Given the description of an element on the screen output the (x, y) to click on. 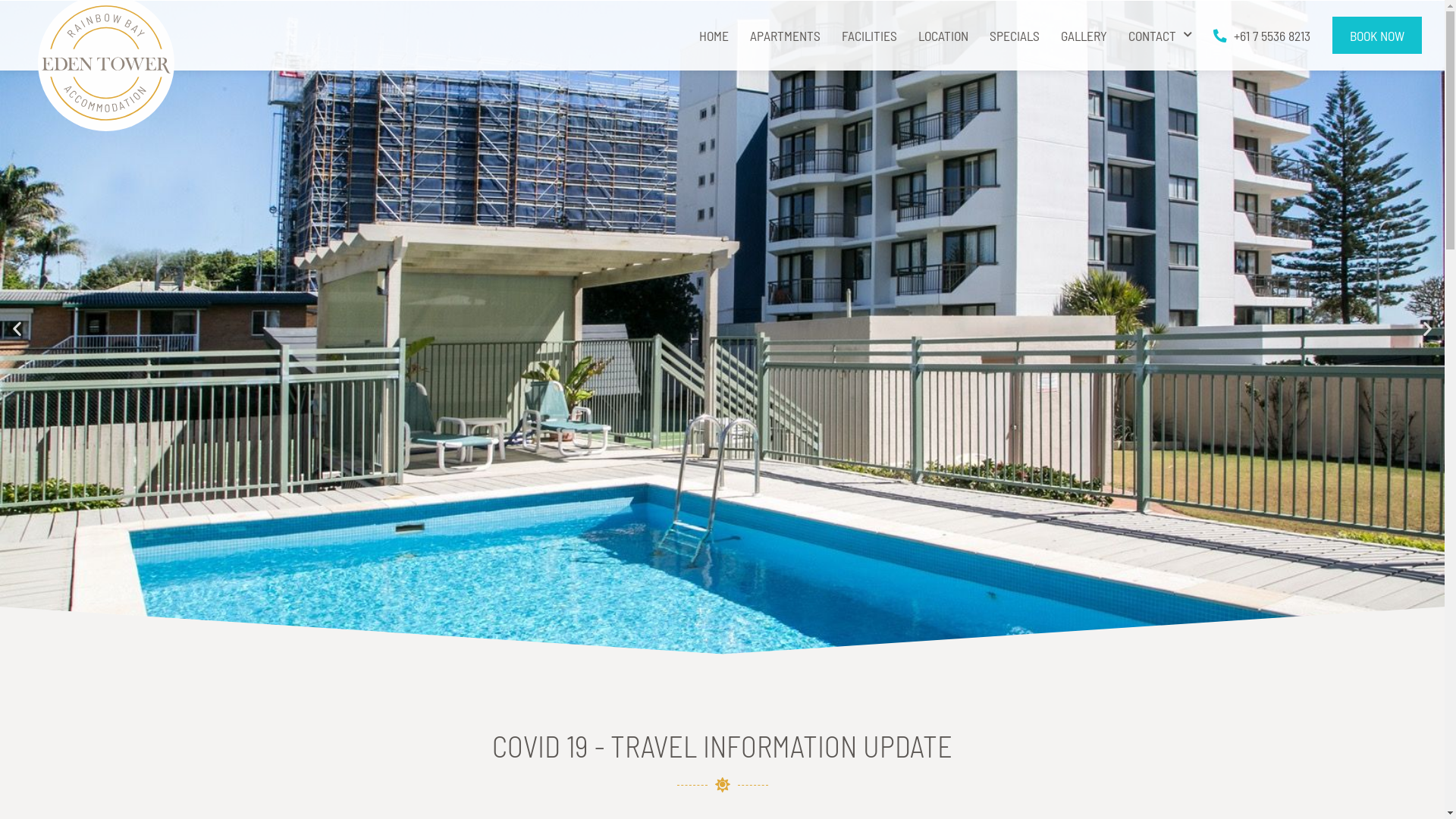
BOOK NOW Element type: text (1376, 35)
CONTACT Element type: text (1159, 34)
SPECIALS Element type: text (1014, 34)
APARTMENTS Element type: text (785, 34)
+61 7 5536 8213 Element type: text (1261, 34)
GALLERY Element type: text (1083, 34)
LOCATION Element type: text (943, 34)
FACILITIES Element type: text (869, 34)
HOME Element type: text (713, 34)
